Given the description of an element on the screen output the (x, y) to click on. 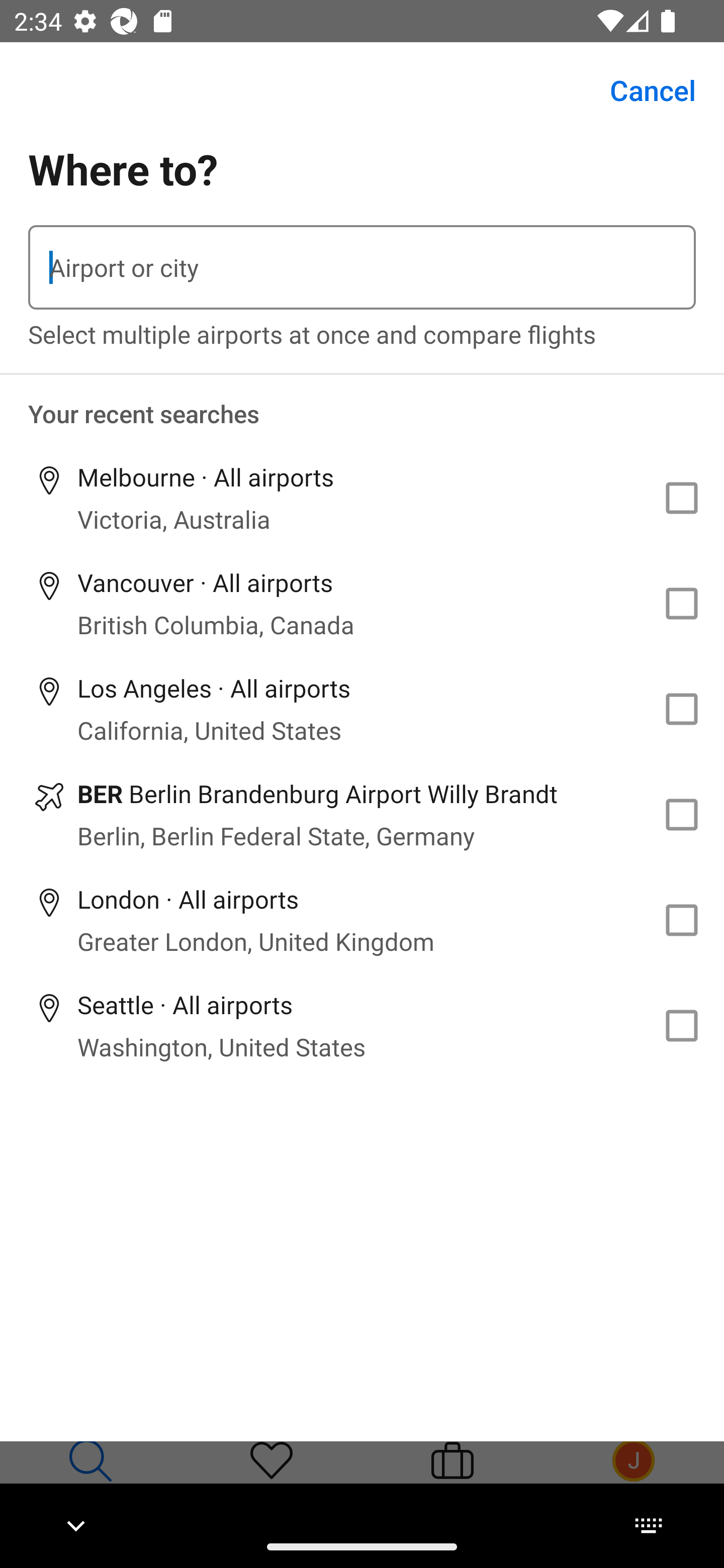
Cancel (641, 90)
Airport or city (361, 266)
Melbourne · All airports Victoria, Australia (362, 497)
Vancouver · All airports British Columbia, Canada (362, 603)
Seattle · All airports Washington, United States (362, 1025)
